Given the description of an element on the screen output the (x, y) to click on. 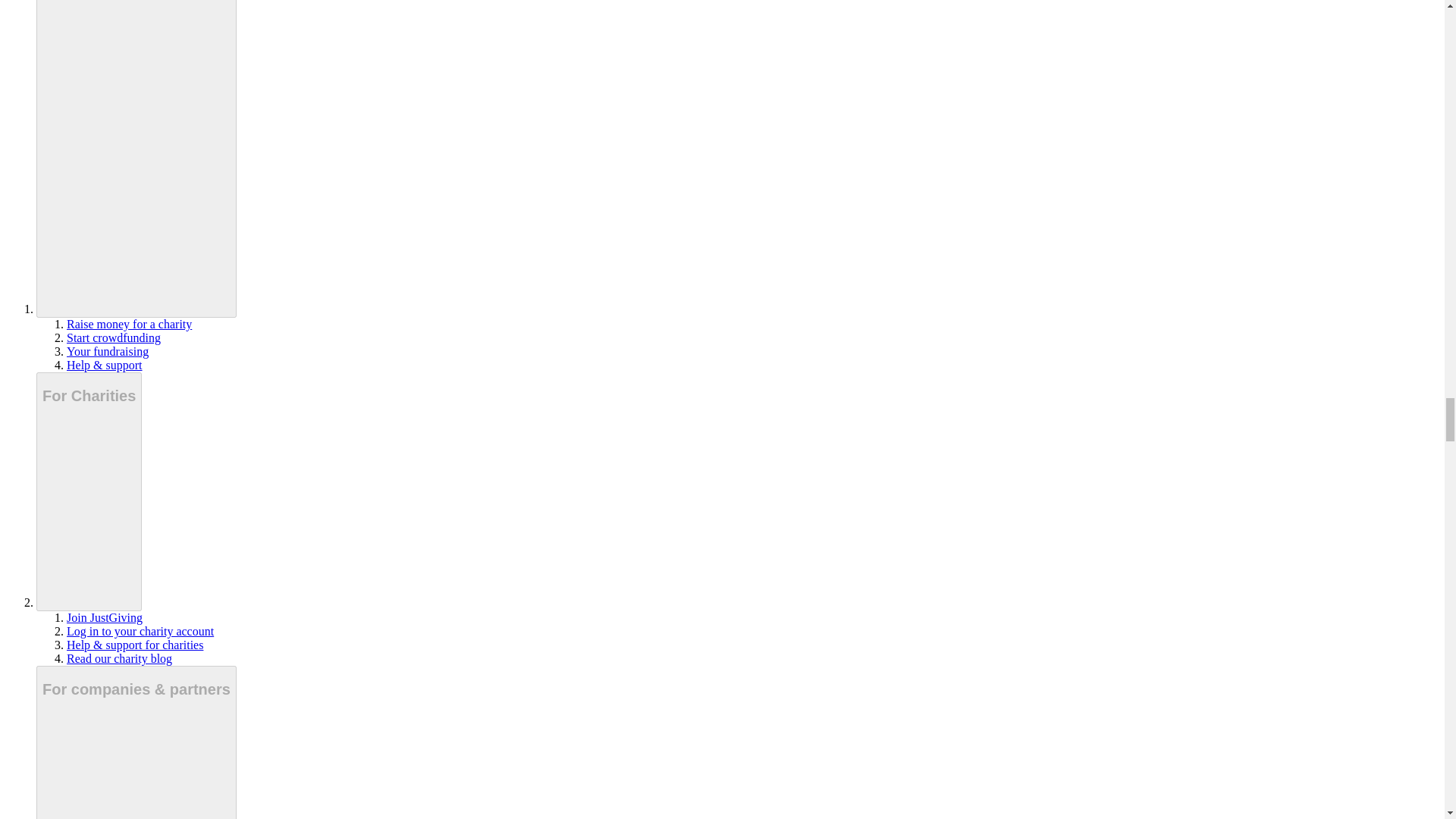
Join JustGiving (104, 617)
Log in to your charity account (140, 631)
Raise money for a charity (129, 323)
For Charities (88, 491)
Start crowdfunding (113, 337)
Your fundraising (107, 350)
Read our charity blog (118, 658)
